Given the description of an element on the screen output the (x, y) to click on. 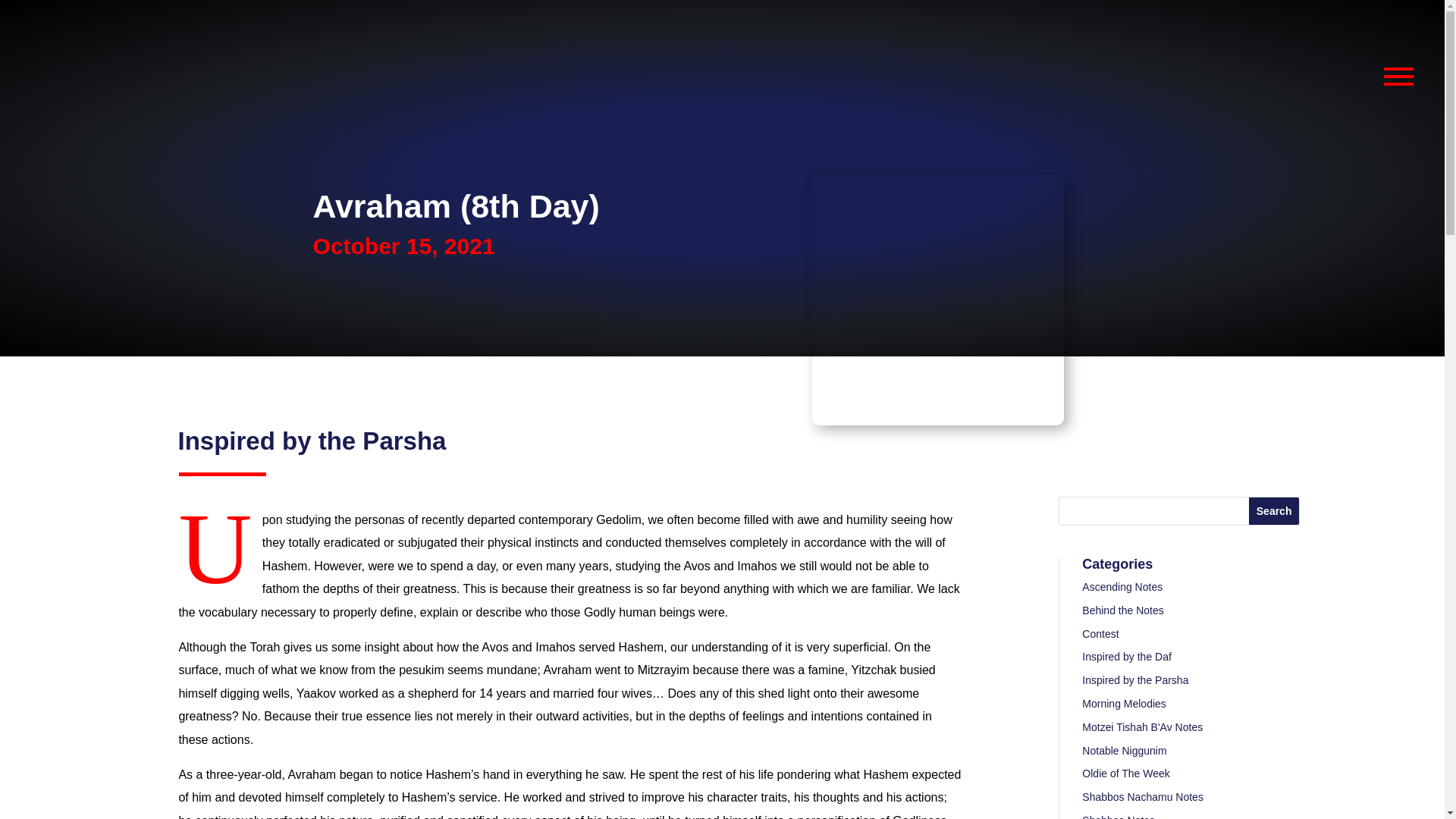
Shabbos Notes (1117, 816)
Ascending Notes (1121, 586)
Contest (1099, 633)
Inspired by the Parsha (311, 440)
Chasing Prophecy (938, 299)
Oldie of The Week (1125, 773)
Search (1274, 510)
Search (1274, 510)
Morning Melodies (1123, 703)
Search (1274, 510)
